Given the description of an element on the screen output the (x, y) to click on. 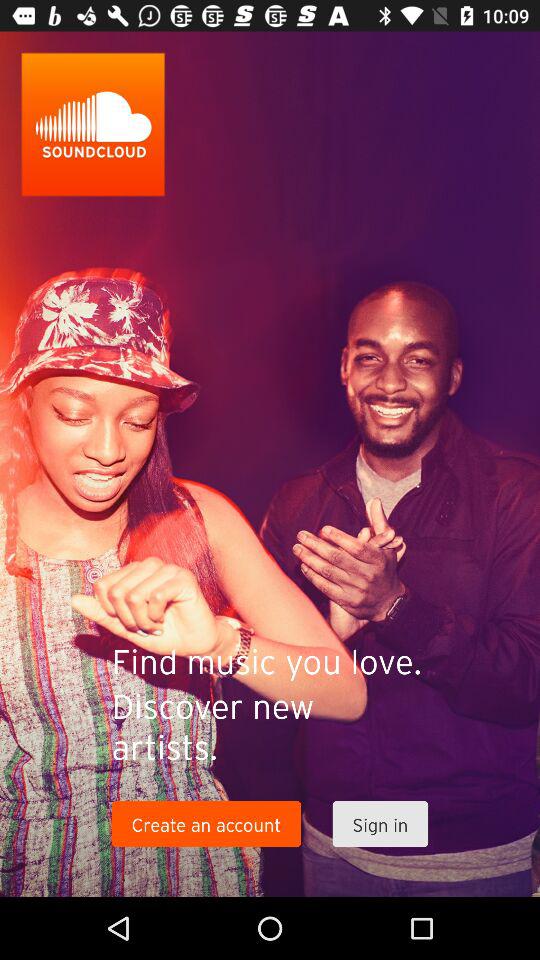
flip to sign in icon (380, 824)
